Given the description of an element on the screen output the (x, y) to click on. 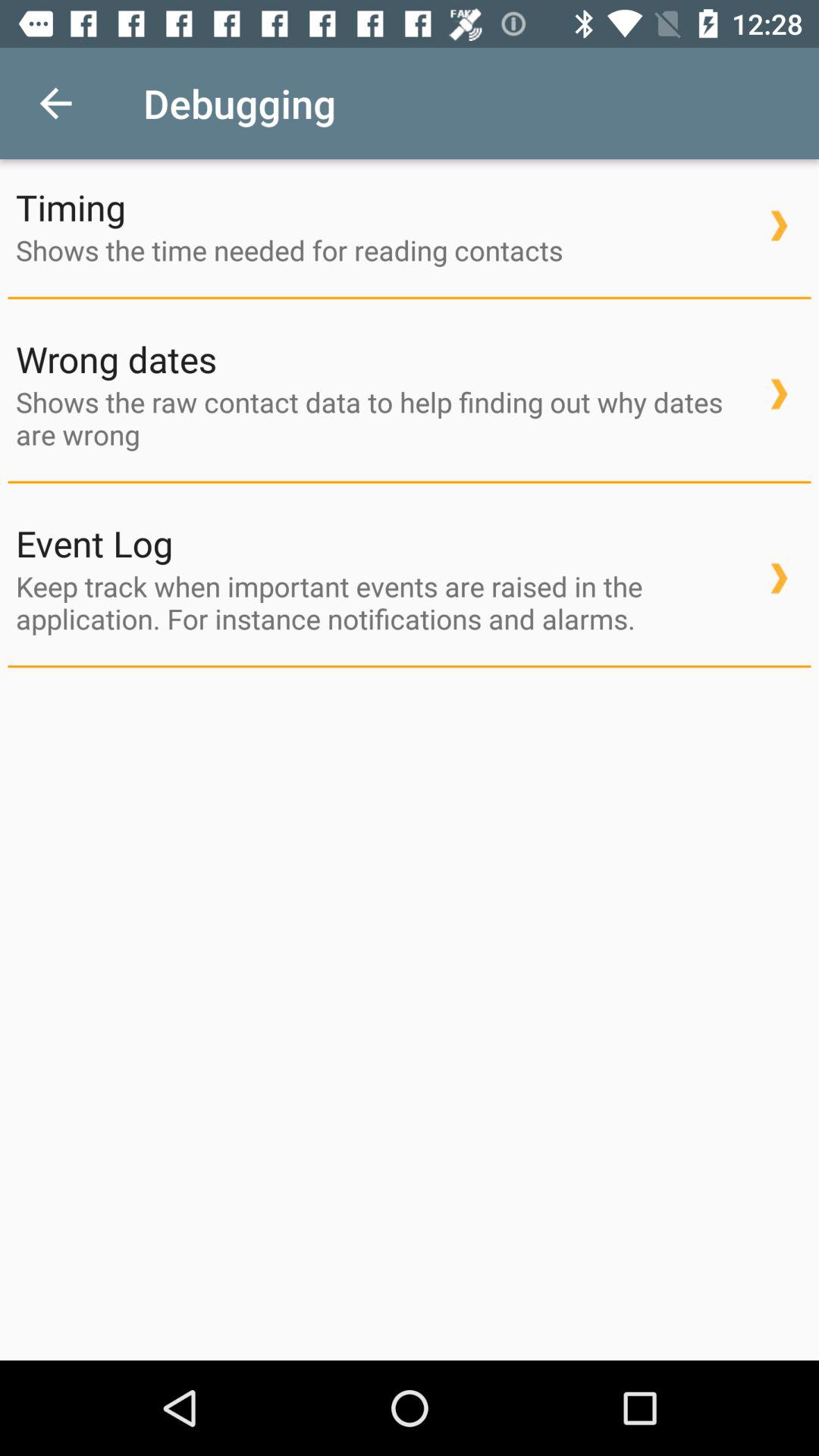
select icon to the left of debugging (55, 103)
